Given the description of an element on the screen output the (x, y) to click on. 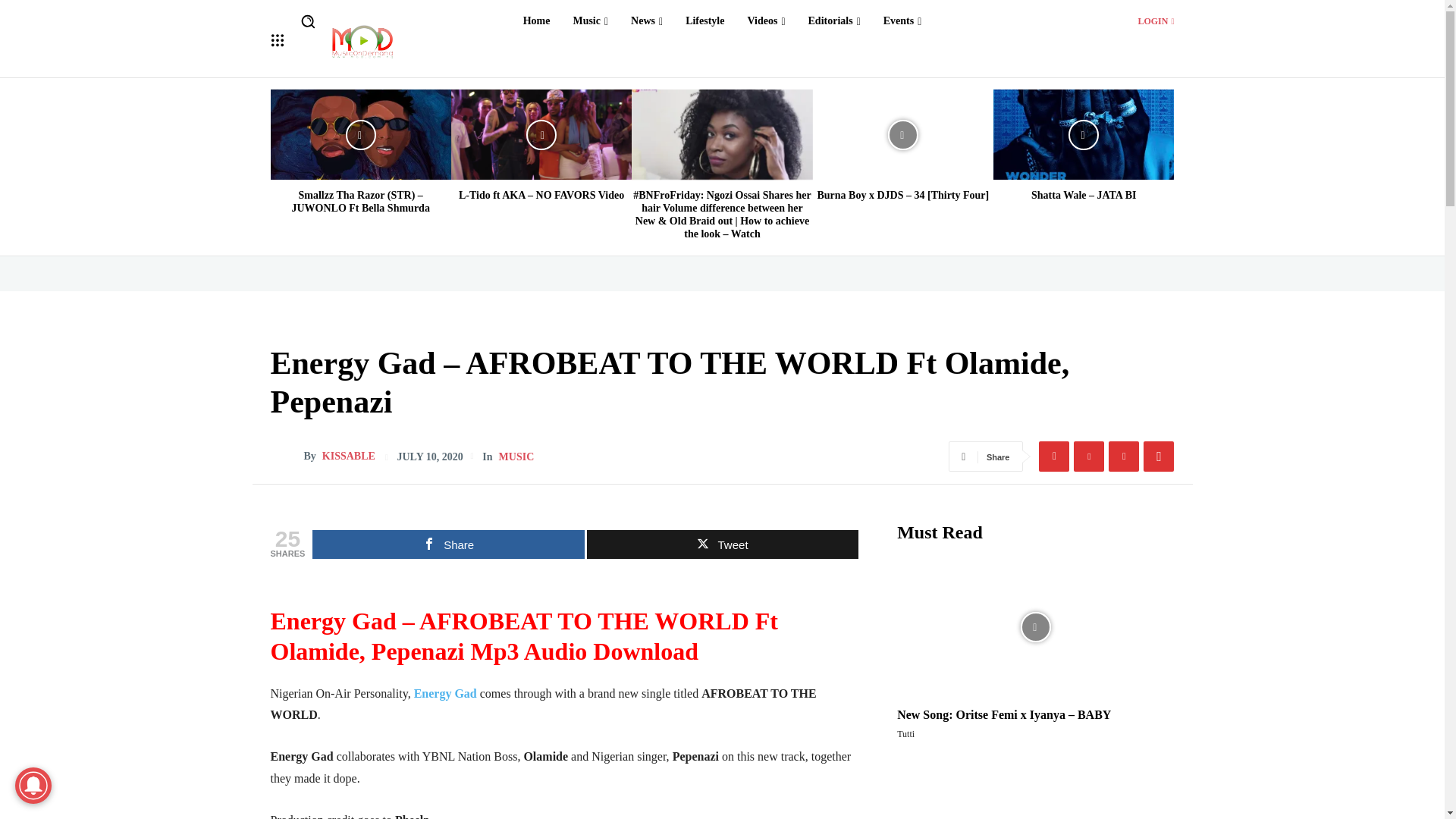
Kissable (285, 456)
Home (536, 20)
Facebook (1053, 456)
Music (589, 20)
